Given the description of an element on the screen output the (x, y) to click on. 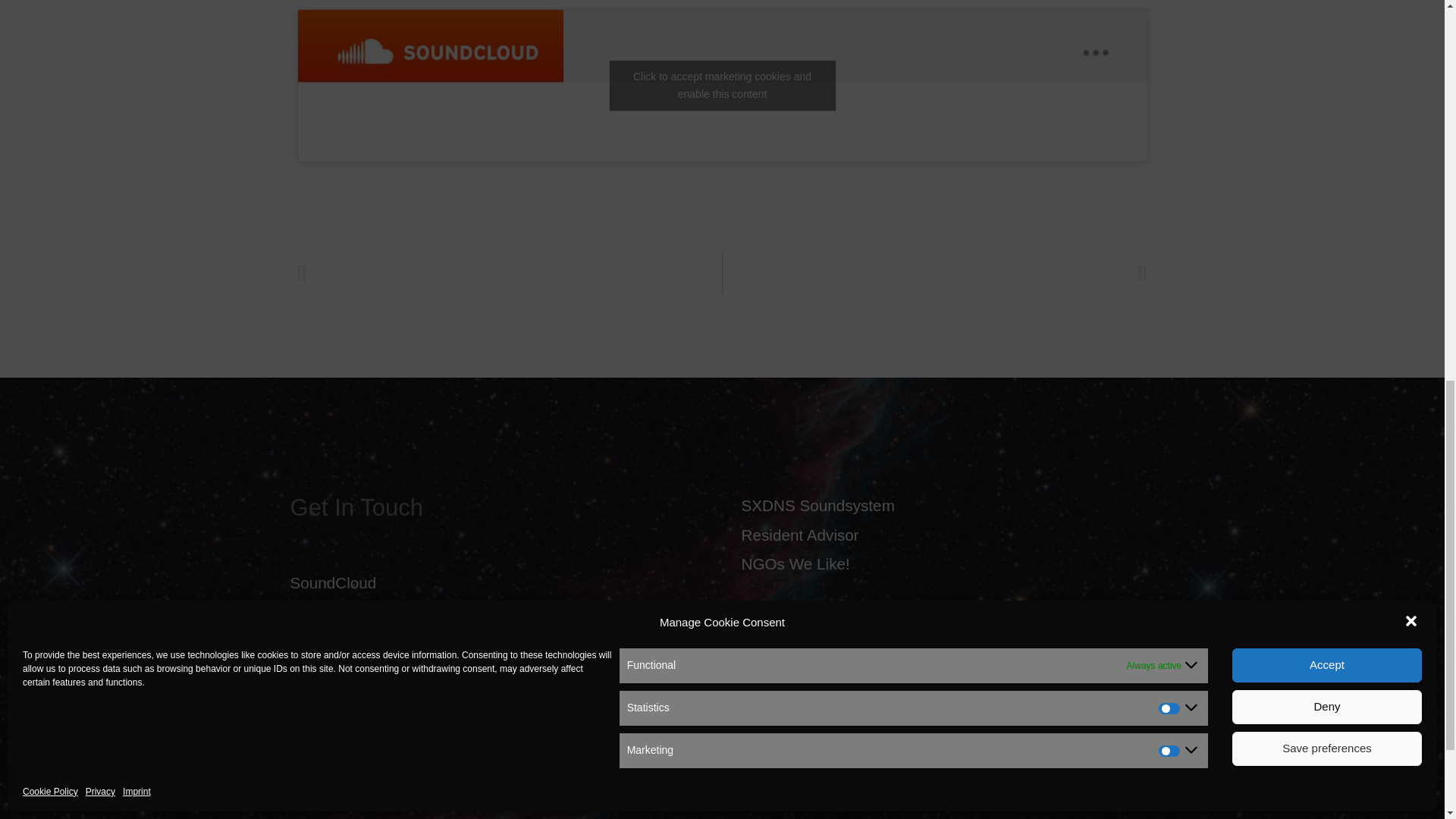
Instagram (324, 641)
SoundCloud (332, 582)
Bandcamp (327, 610)
Click to accept marketing cookies and enable this content (721, 84)
